Given the description of an element on the screen output the (x, y) to click on. 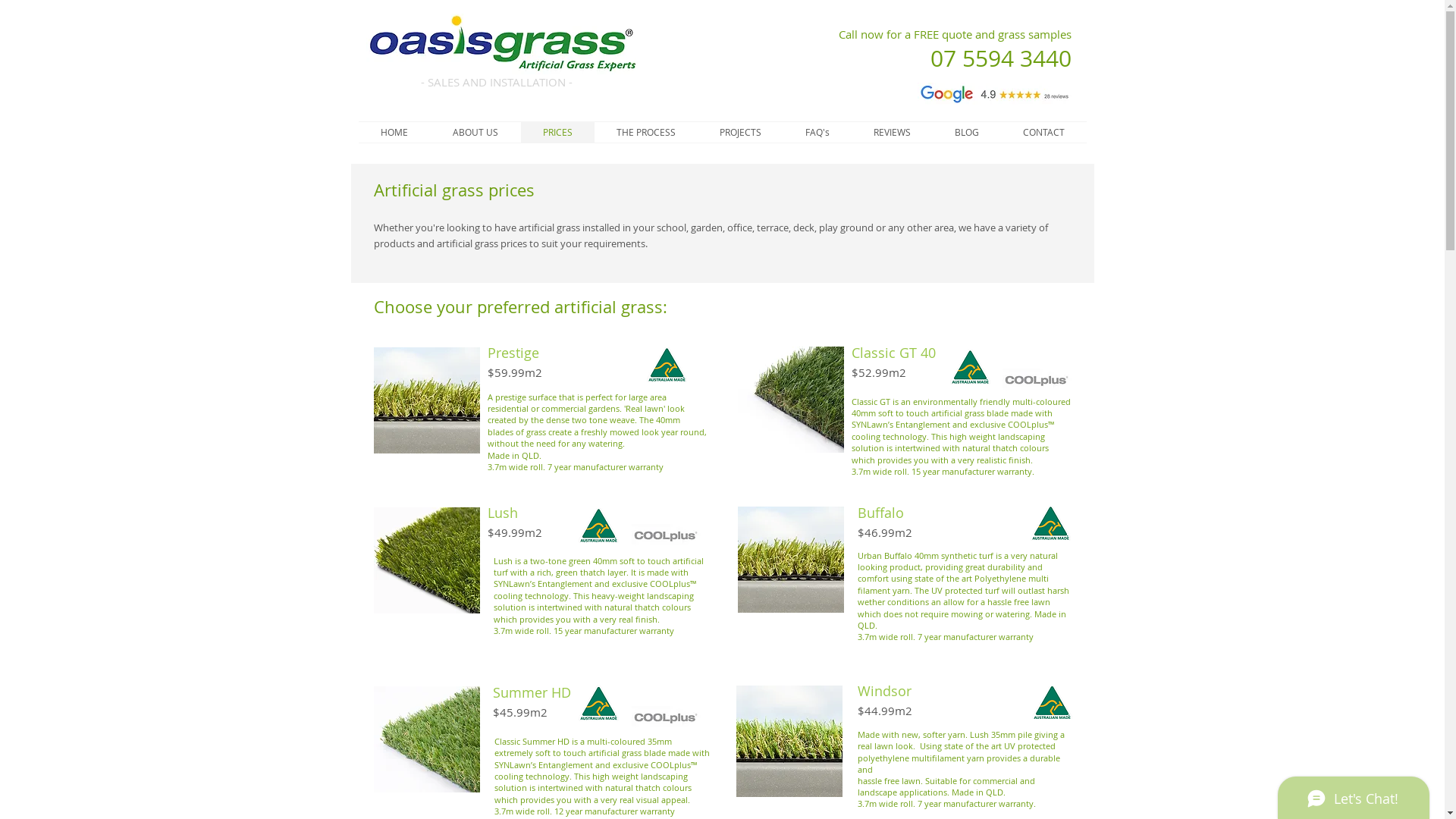
THE PROCESS Element type: text (645, 132)
Oasisgrass.jpg Element type: hover (501, 43)
07 5594 3440 Element type: text (999, 58)
REVIEWS Element type: text (890, 132)
HOME Element type: text (393, 132)
ABOUT US Element type: text (475, 132)
BLOG Element type: text (966, 132)
PRICES Element type: text (556, 132)
FAQ's Element type: text (816, 132)
PROJECTS Element type: text (740, 132)
CONTACT Element type: text (1043, 132)
